Given the description of an element on the screen output the (x, y) to click on. 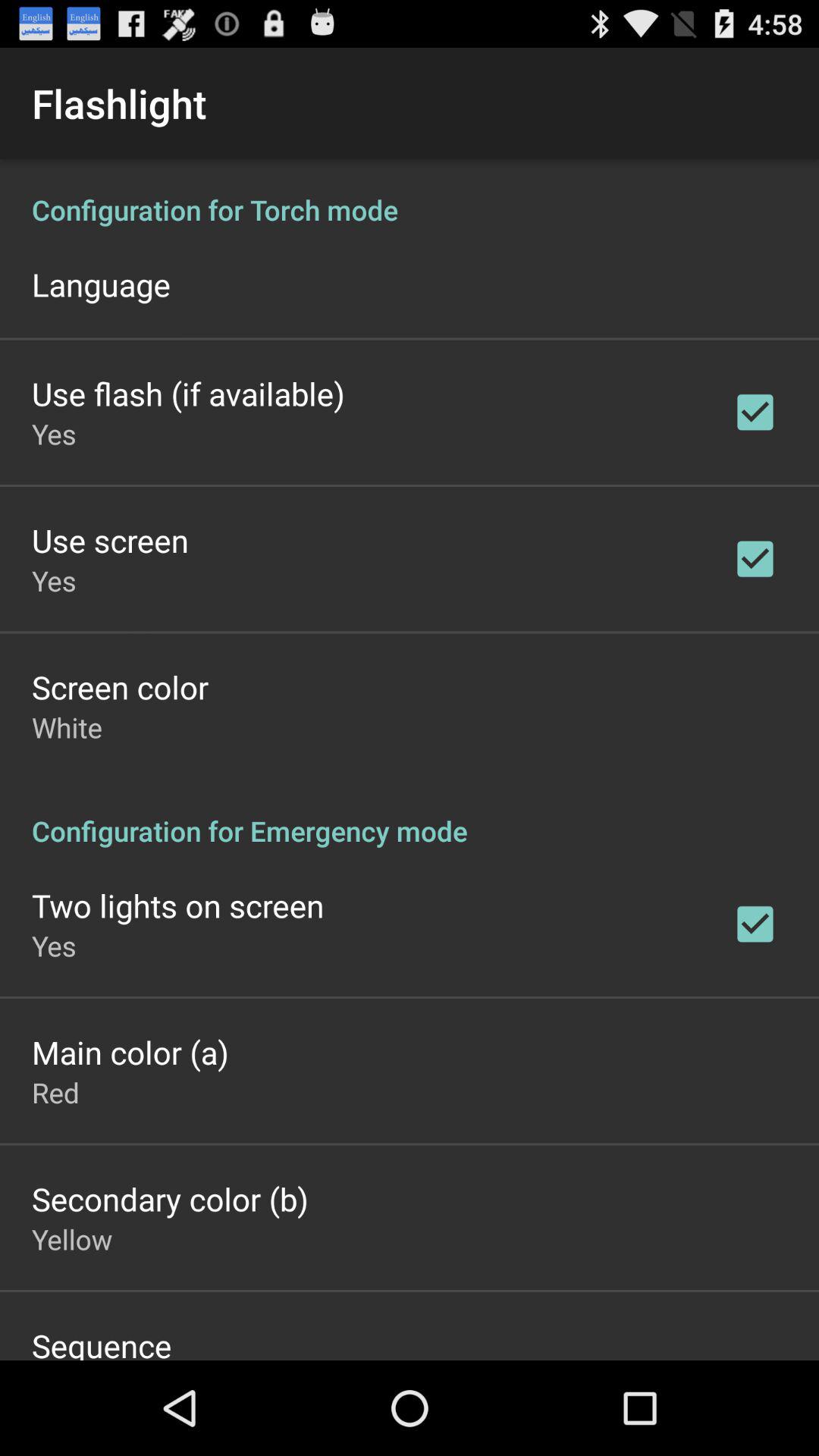
click the use screen icon (109, 539)
